Given the description of an element on the screen output the (x, y) to click on. 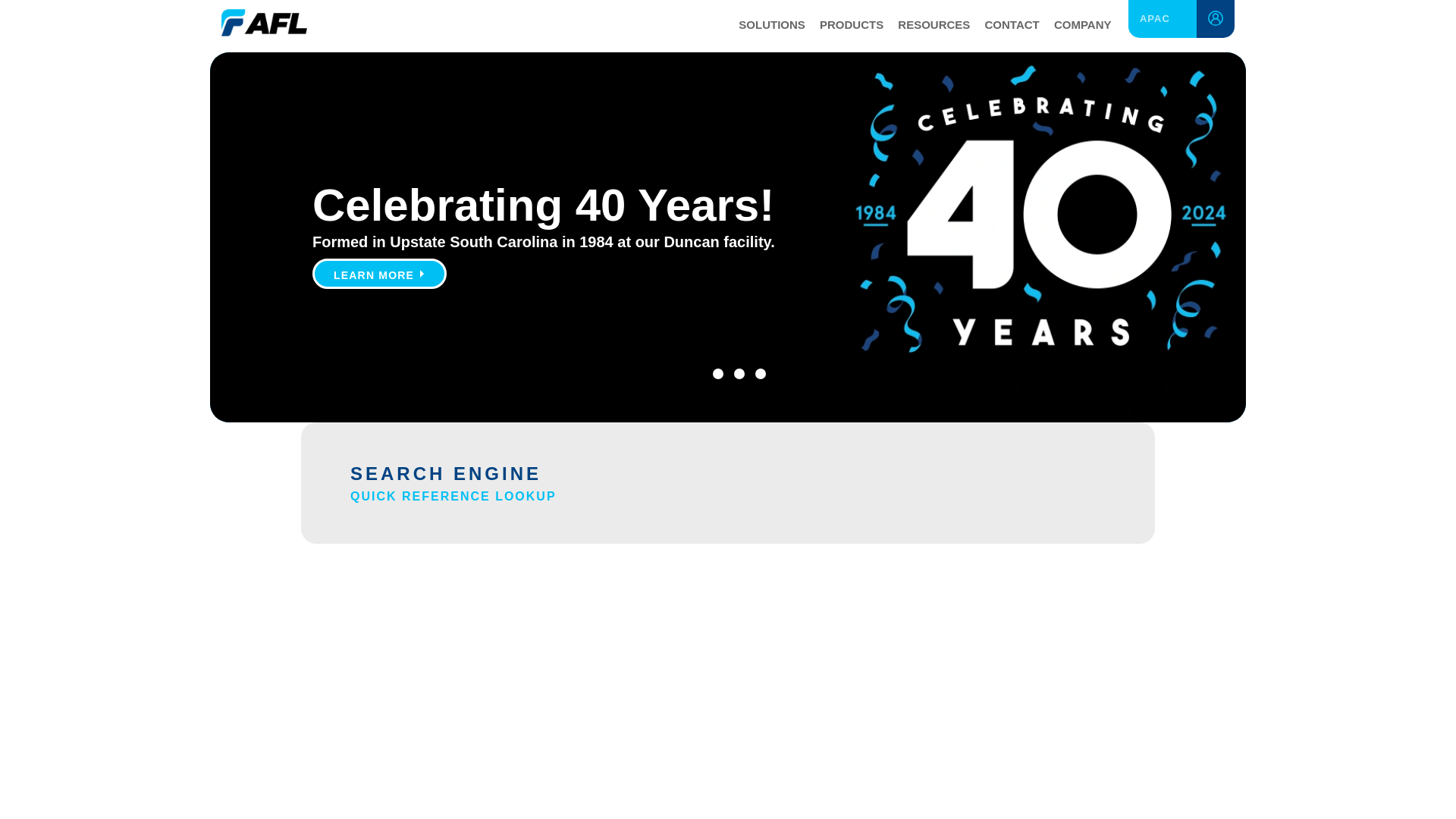
Solutions (771, 25)
Products (851, 25)
SOLUTIONS (771, 25)
Logo (264, 20)
PRODUCTS (851, 25)
